Given the description of an element on the screen output the (x, y) to click on. 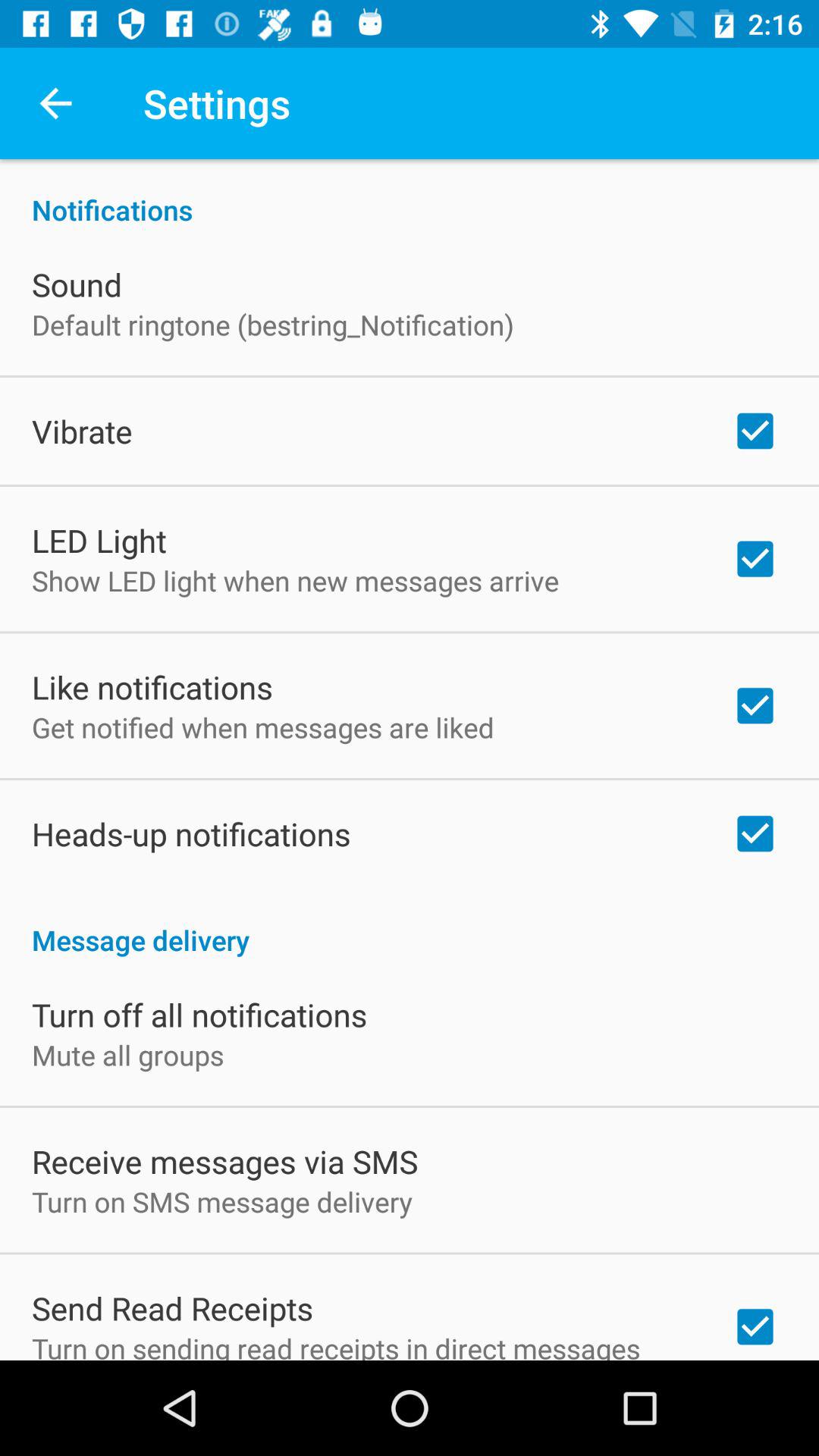
jump until default ringtone (bestring_notification) icon (272, 324)
